Given the description of an element on the screen output the (x, y) to click on. 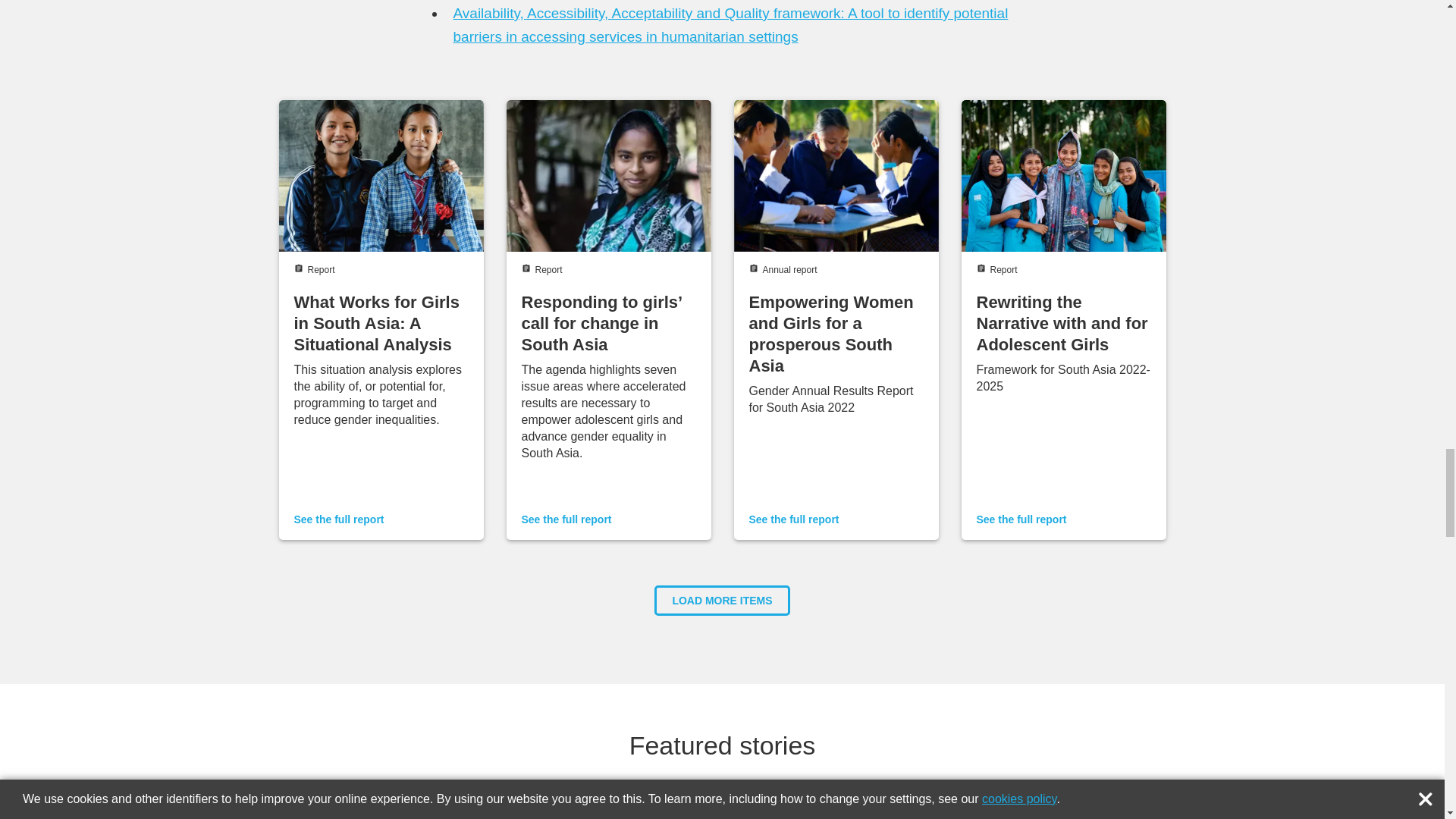
LOAD MORE ITEMS (721, 600)
